Given the description of an element on the screen output the (x, y) to click on. 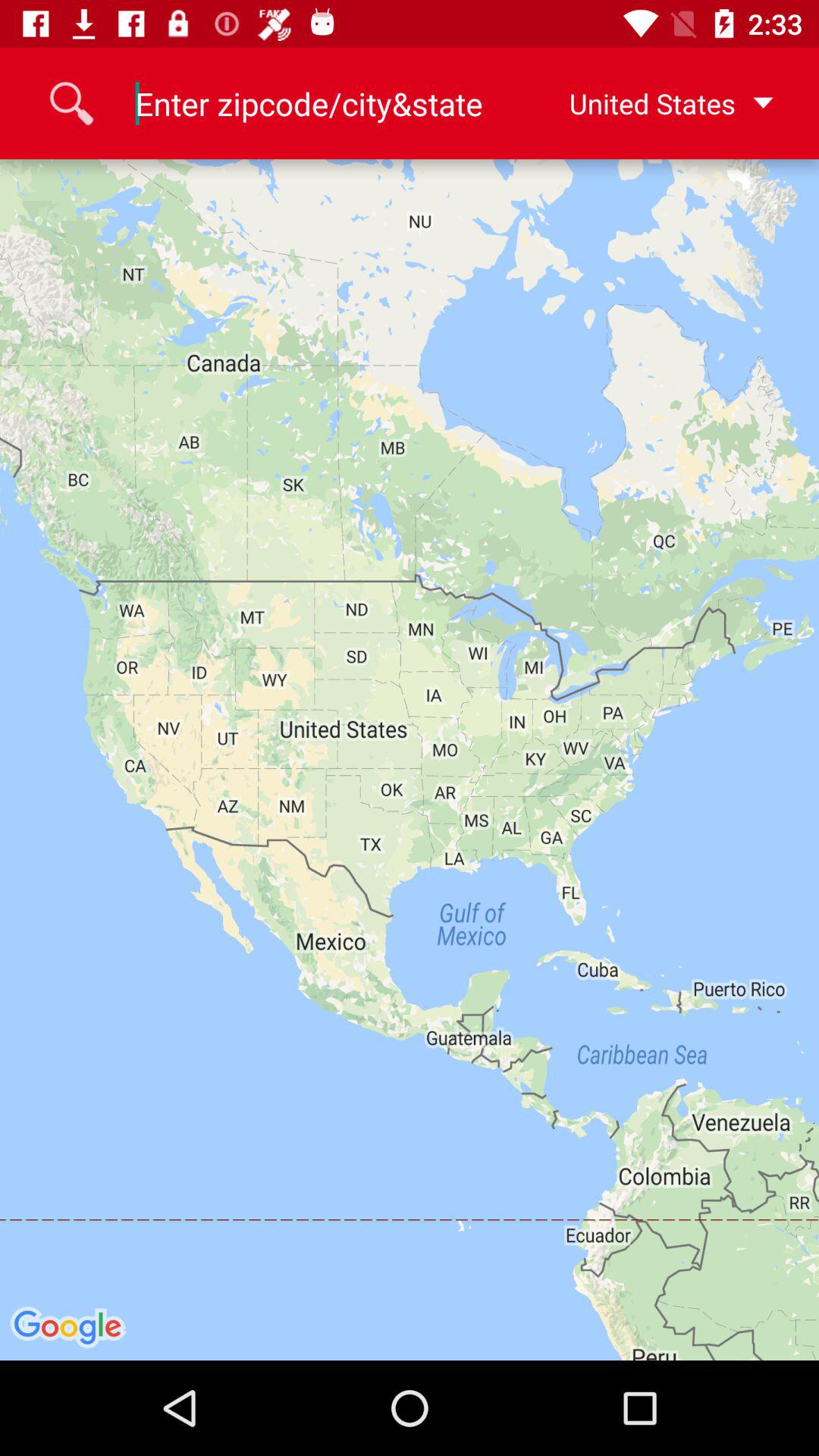
turn off the united states at the top right corner (647, 103)
